Given the description of an element on the screen output the (x, y) to click on. 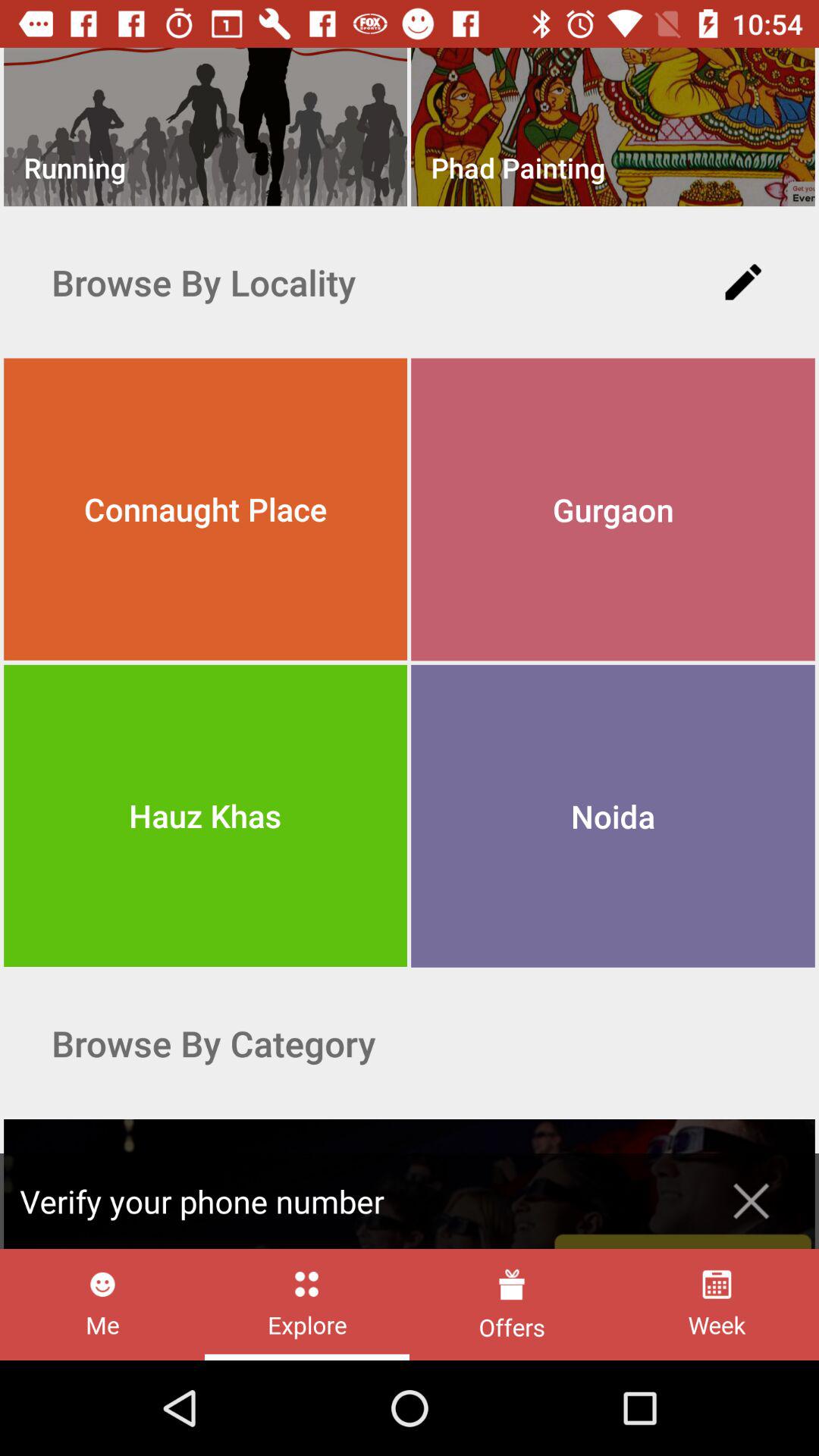
launch explore (306, 1304)
